Given the description of an element on the screen output the (x, y) to click on. 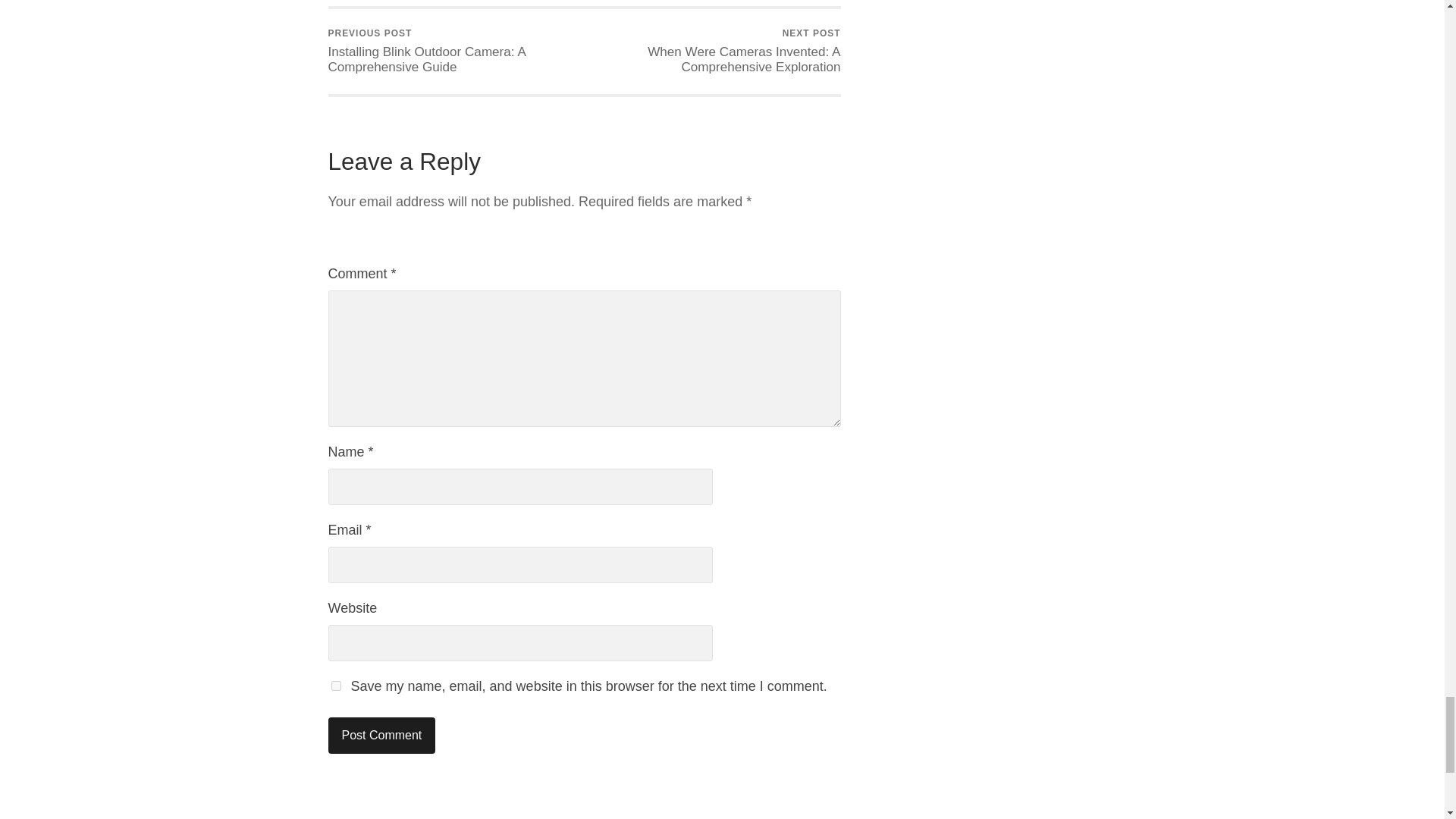
Post Comment (381, 735)
yes (335, 685)
Post Comment (381, 735)
